Given the description of an element on the screen output the (x, y) to click on. 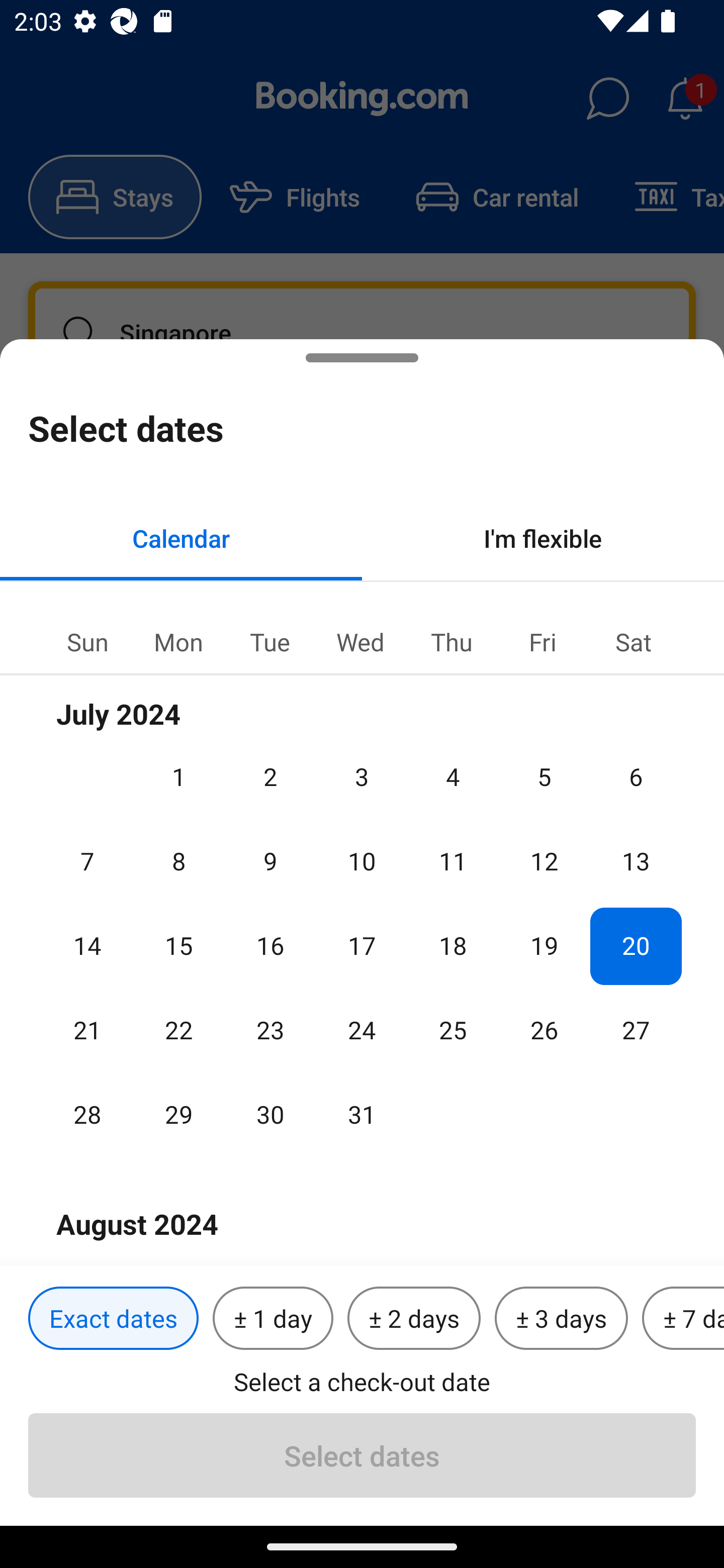
I'm flexible (543, 537)
Exact dates (113, 1318)
± 1 day (272, 1318)
± 2 days (413, 1318)
± 3 days (560, 1318)
± 7 days (683, 1318)
Select dates (361, 1454)
